Given the description of an element on the screen output the (x, y) to click on. 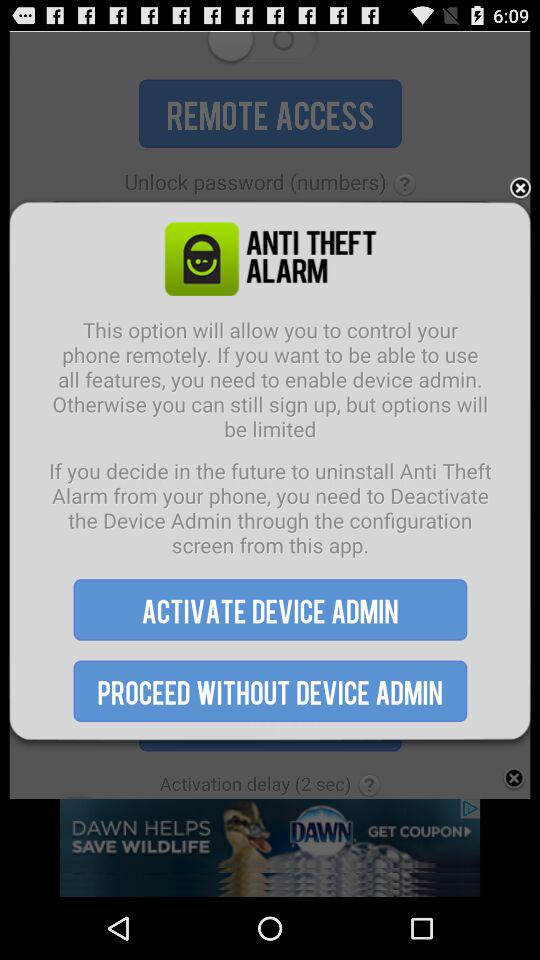
close advertisement (520, 188)
